Given the description of an element on the screen output the (x, y) to click on. 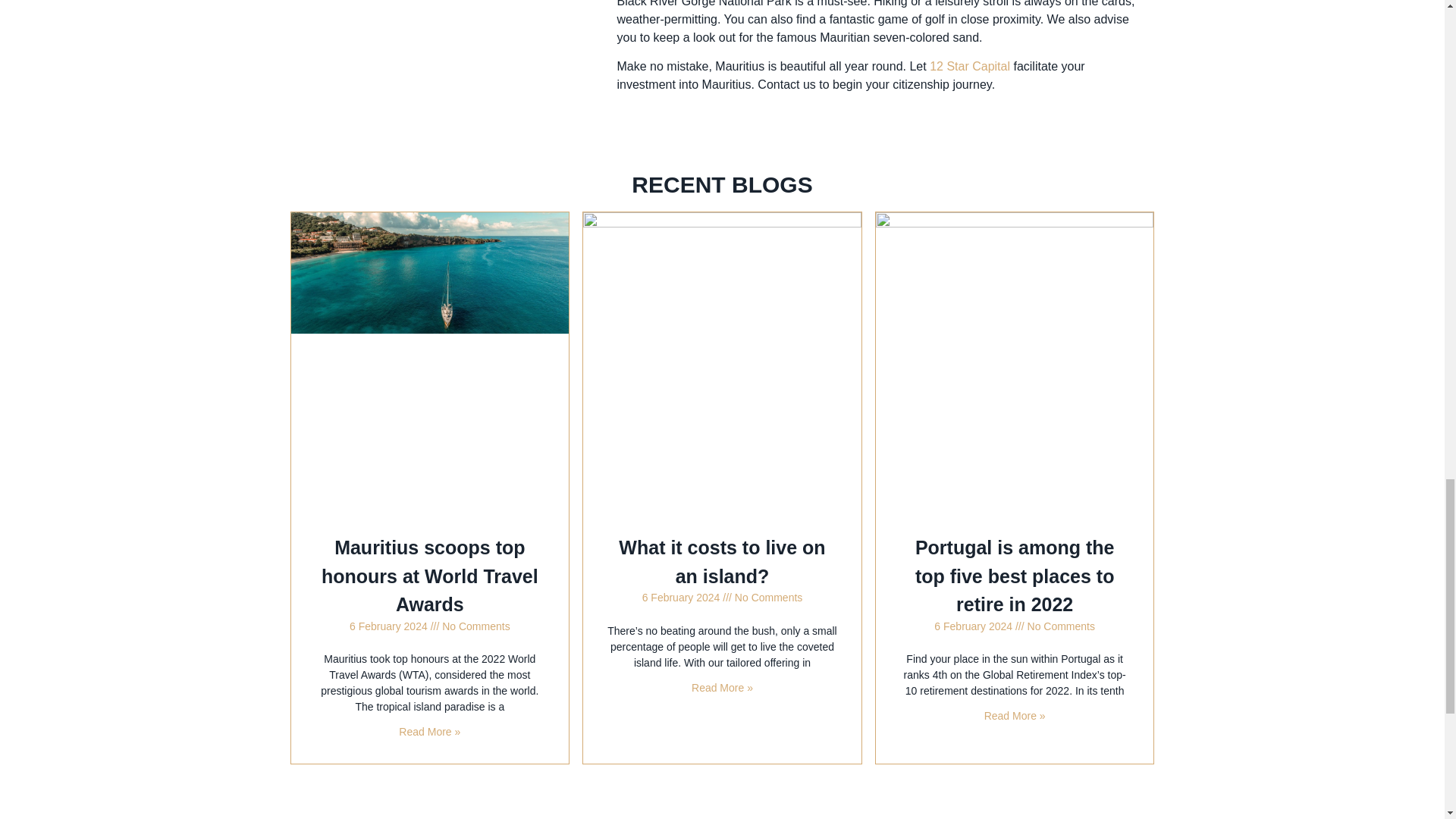
Mauritius scoops top honours at World Travel Awards (429, 576)
Portugal is among the top five best places to retire in 2022 (1015, 576)
12 Star Capital (970, 65)
What it costs to live on an island? (721, 562)
